Given the description of an element on the screen output the (x, y) to click on. 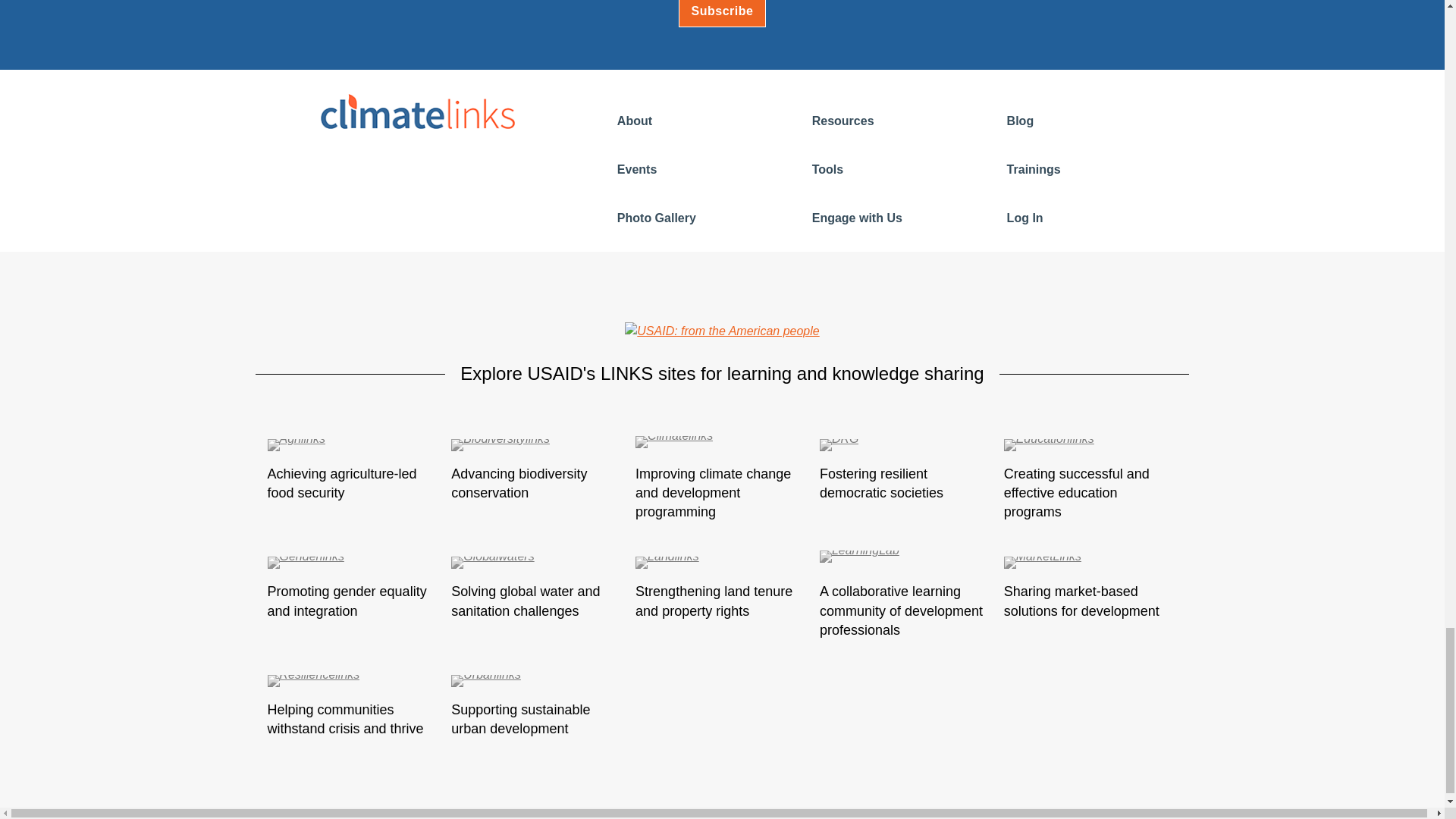
Go to USAID (721, 330)
Go to Globalwaters (537, 564)
Go to Biodiversitylinks (537, 447)
Go to LearningLab (905, 564)
Go to DRG (905, 447)
Home (417, 110)
Go to Genderlinks (353, 564)
Go to Landlinks (721, 564)
Go to Climatelinks (721, 447)
Go to Agrilinks (353, 447)
Go to Educationlinks (1090, 447)
Go to MarketLinks (1090, 564)
